Given the description of an element on the screen output the (x, y) to click on. 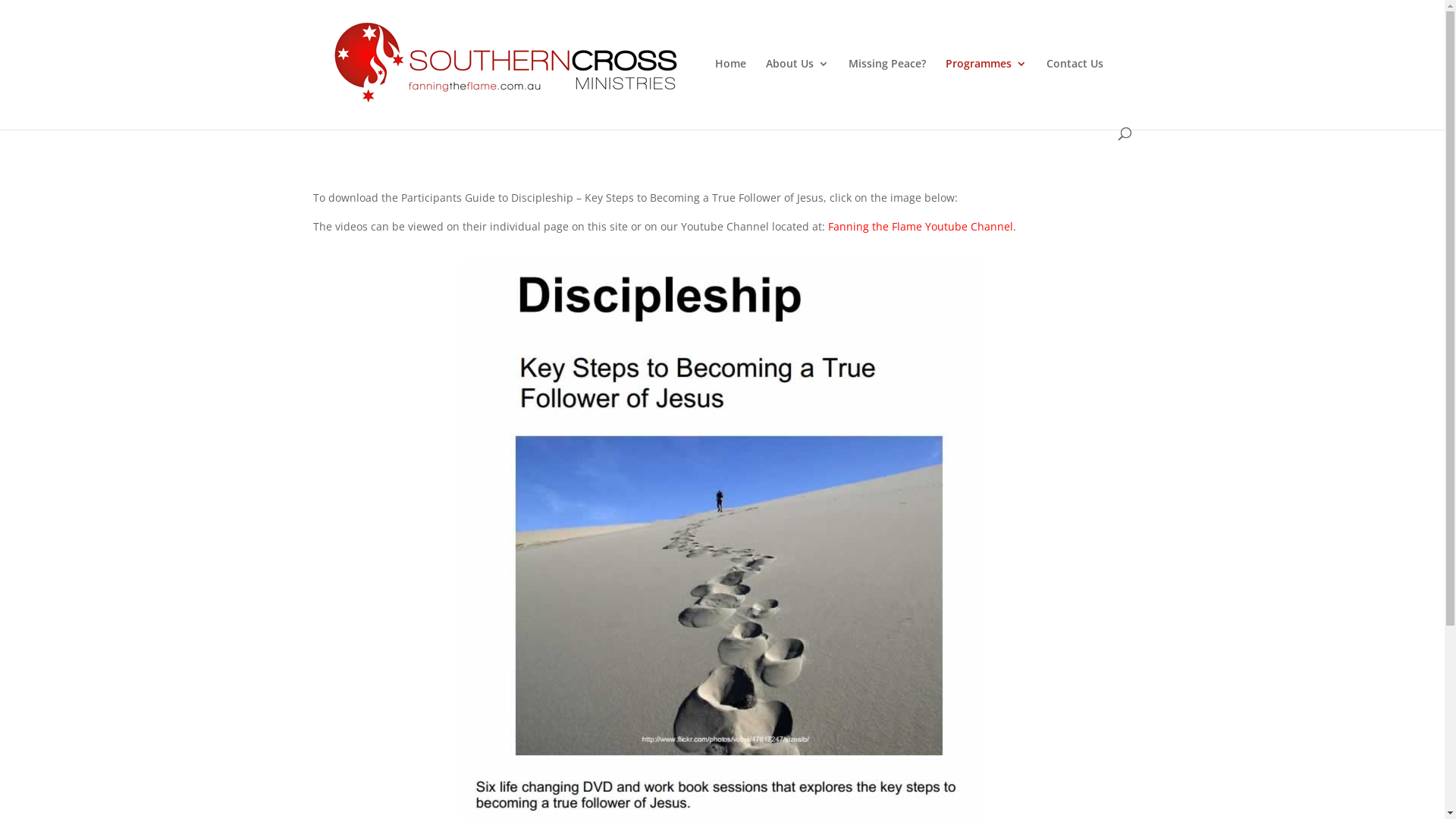
Home Element type: text (729, 92)
Programmes Element type: text (985, 92)
About Us Element type: text (796, 92)
Missing Peace? Element type: text (886, 92)
Fanning the Flame Youtube Channel. Element type: text (922, 226)
Contact Us Element type: text (1074, 92)
